Given the description of an element on the screen output the (x, y) to click on. 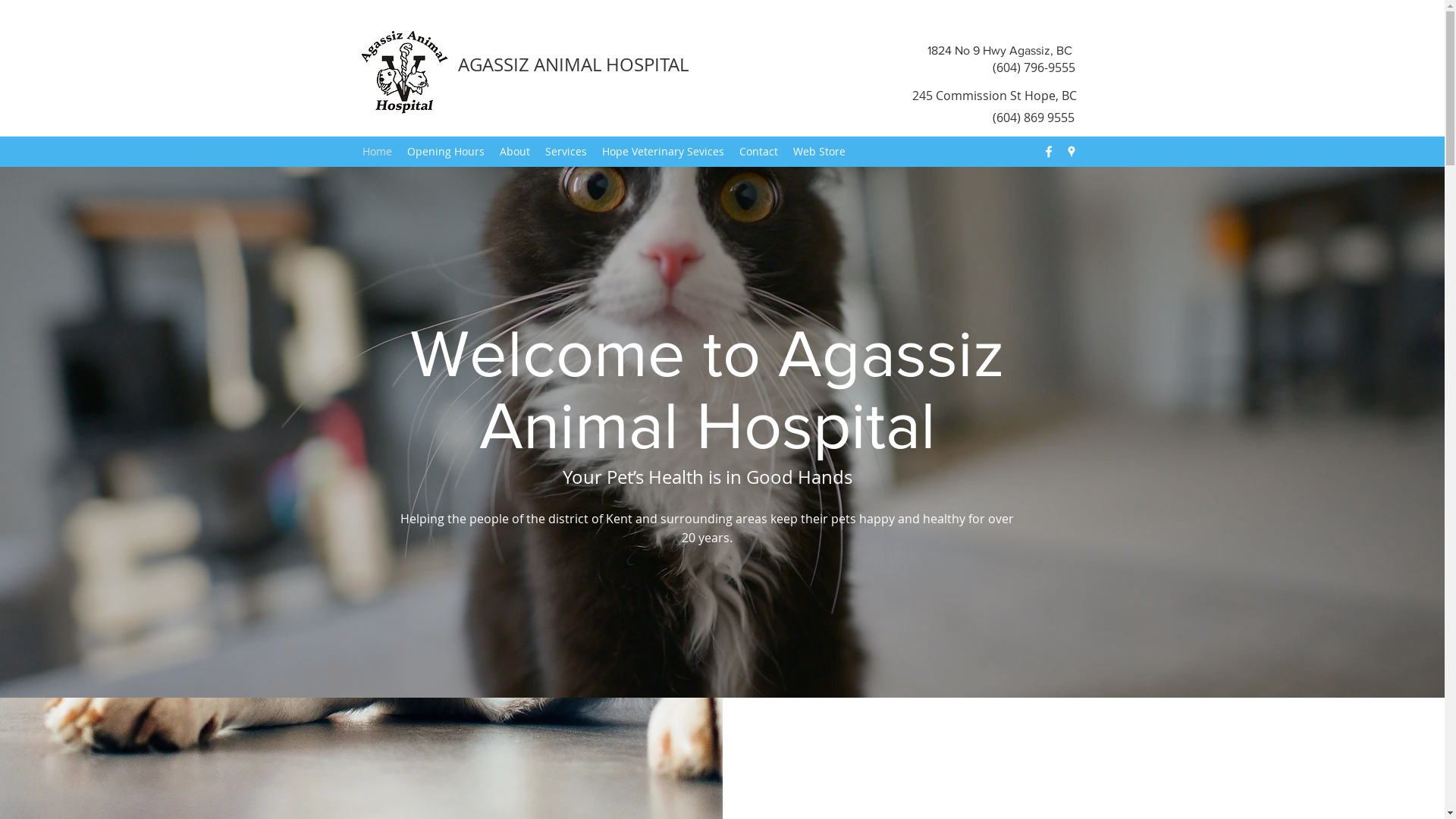
Web Store Element type: text (819, 151)
About Element type: text (513, 151)
Home Element type: text (376, 151)
Opening Hours Element type: text (444, 151)
AGASSIZ ANIMAL HOSPITAL Element type: text (573, 64)
Services Element type: text (564, 151)
Contact Element type: text (757, 151)
Hope Veterinary Sevices Element type: text (662, 151)
